Given the description of an element on the screen output the (x, y) to click on. 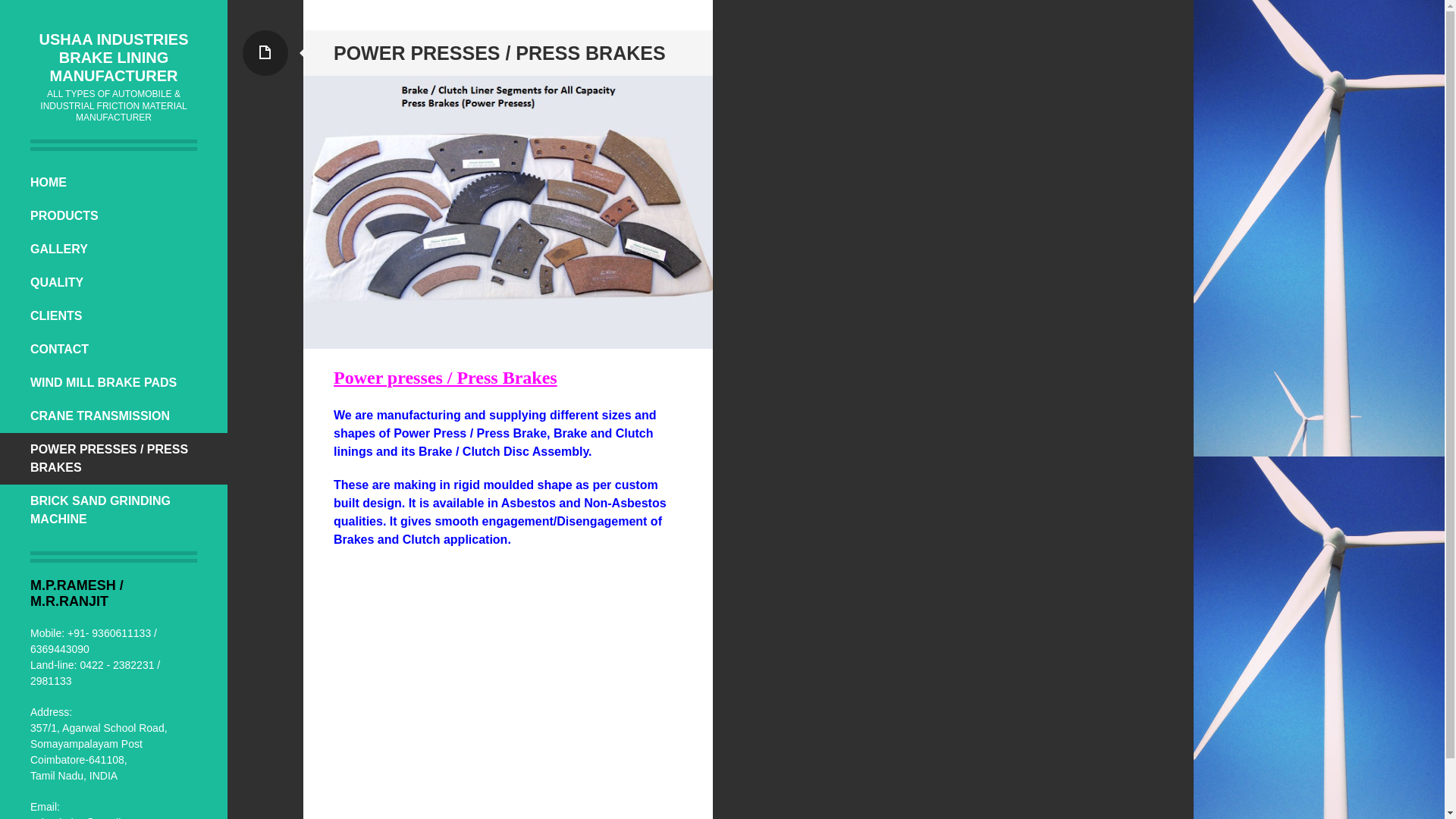
PRODUCTS (113, 215)
GALLERY (113, 249)
WIND MILL BRAKE PADS (113, 382)
CLIENTS (113, 315)
BRICK SAND GRINDING MACHINE (113, 510)
USHAA INDUSTRIES Brake Lining Manufacturer (113, 57)
QUALITY (113, 282)
CONTACT (113, 349)
HOME (113, 182)
CRANE TRANSMISSION (113, 416)
